Given the description of an element on the screen output the (x, y) to click on. 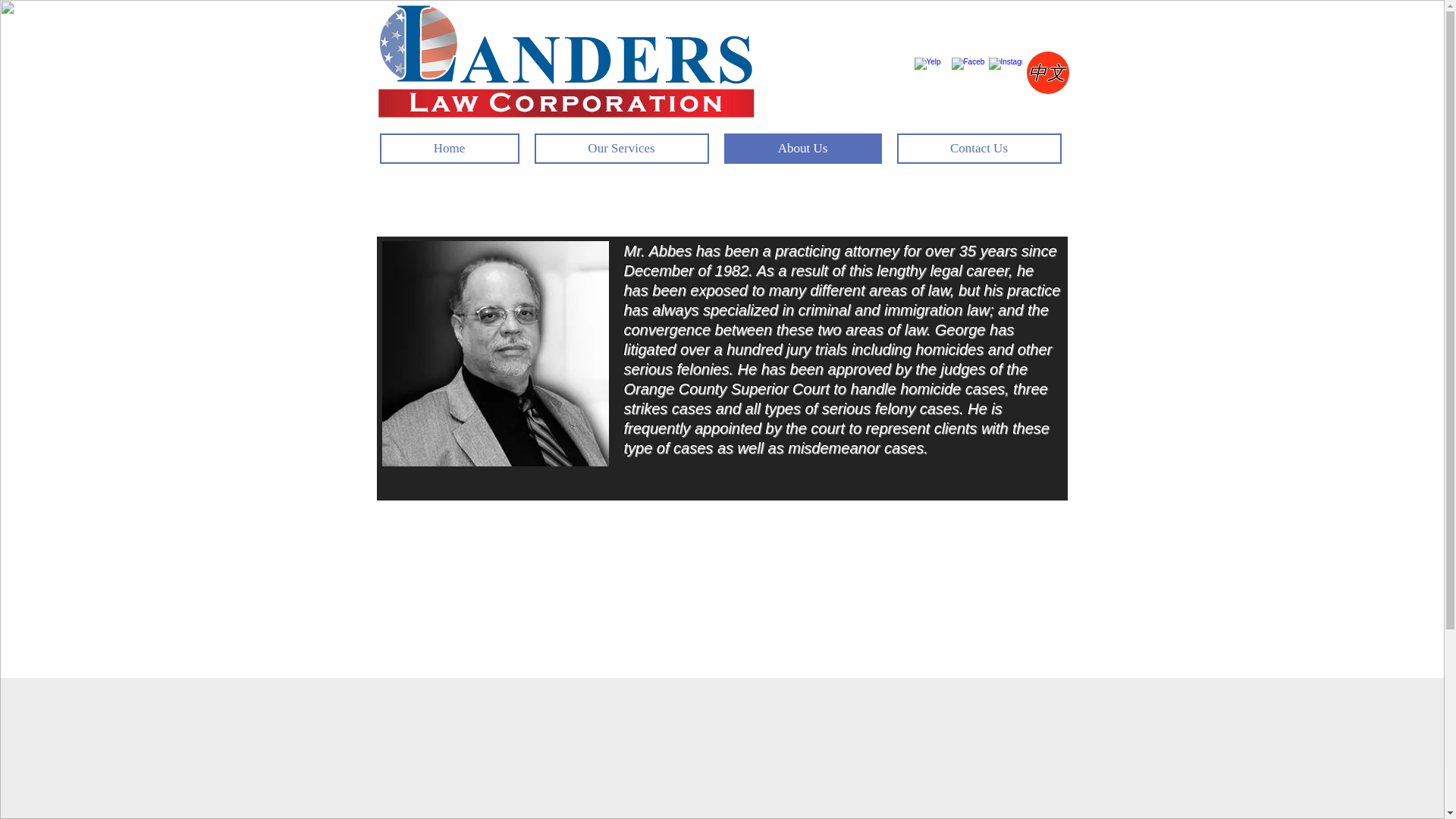
About Us (801, 148)
Contact Us (978, 148)
Our Services (620, 148)
Home (448, 148)
